Given the description of an element on the screen output the (x, y) to click on. 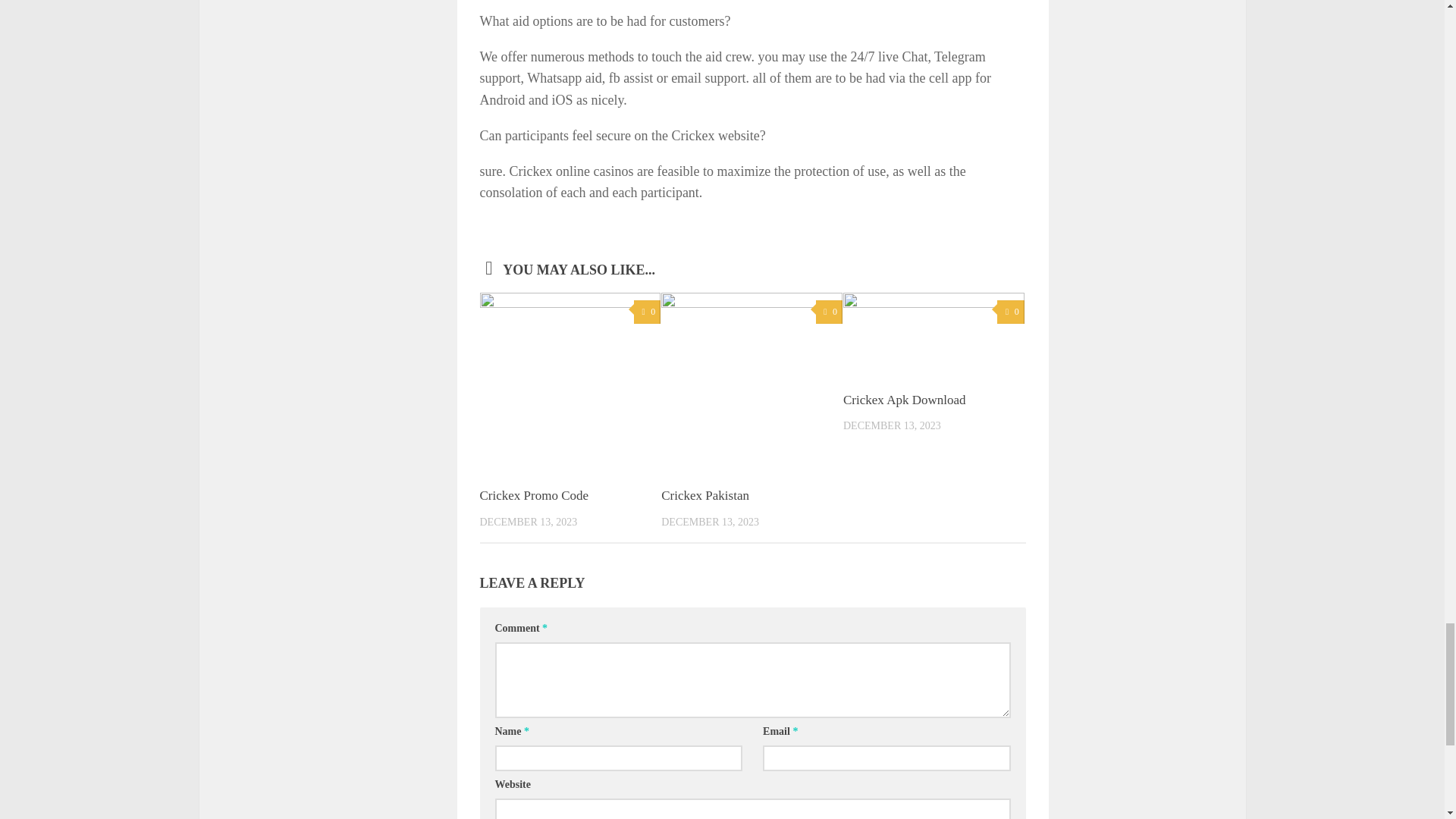
Crickex Promo Code (533, 495)
Crickex Pakistan (705, 495)
0 (829, 311)
0 (647, 311)
